Given the description of an element on the screen output the (x, y) to click on. 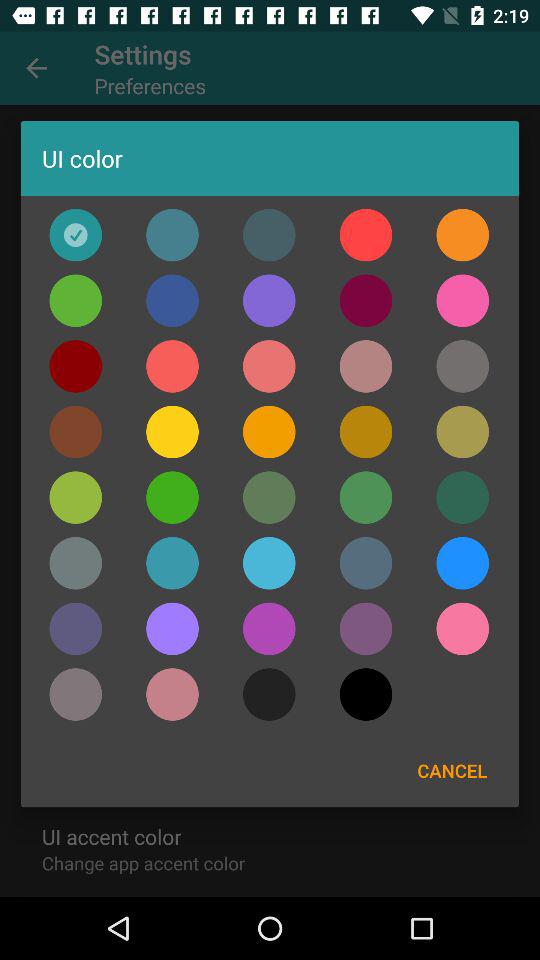
select this color (172, 497)
